Given the description of an element on the screen output the (x, y) to click on. 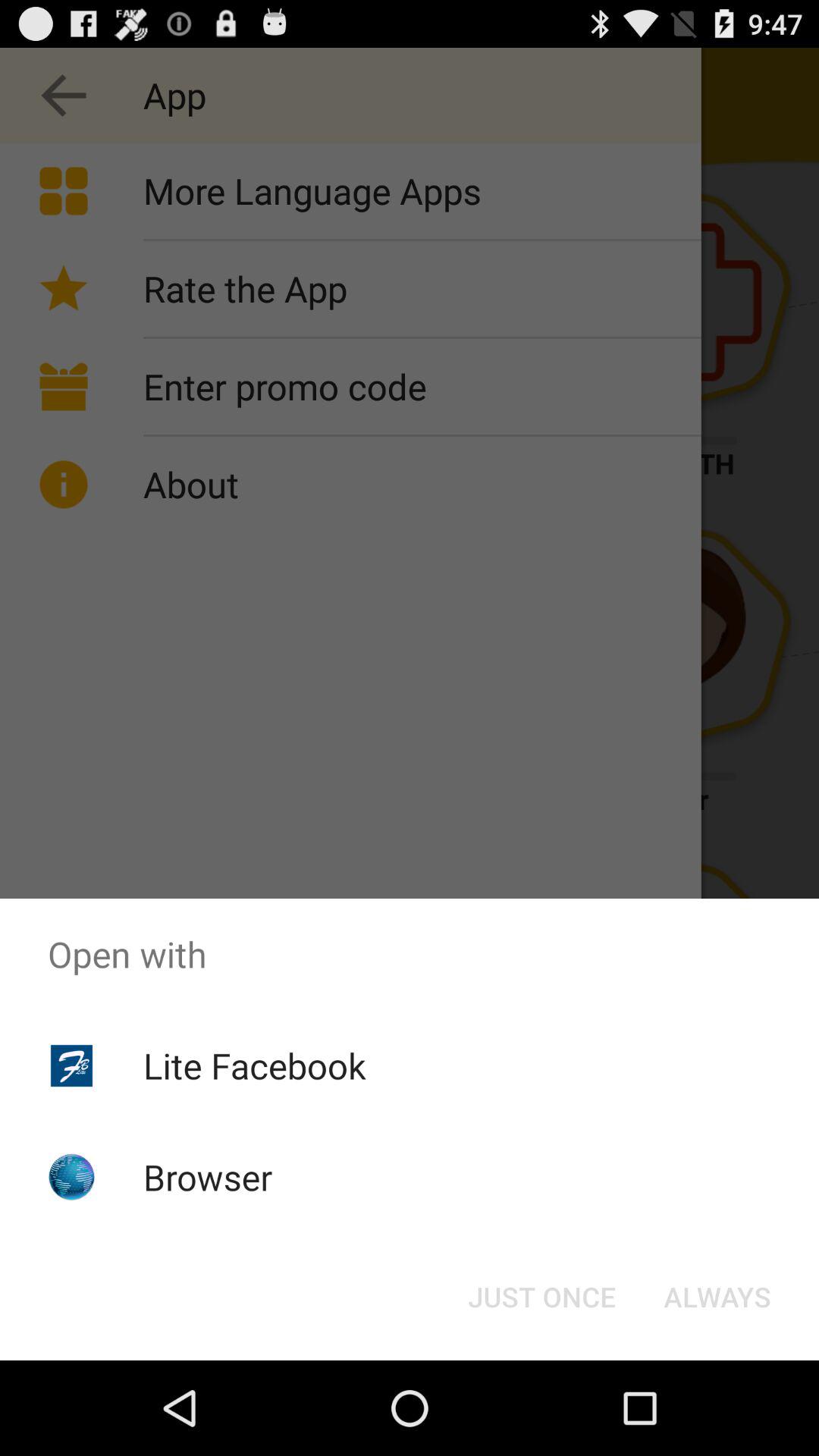
open the always (717, 1296)
